Given the description of an element on the screen output the (x, y) to click on. 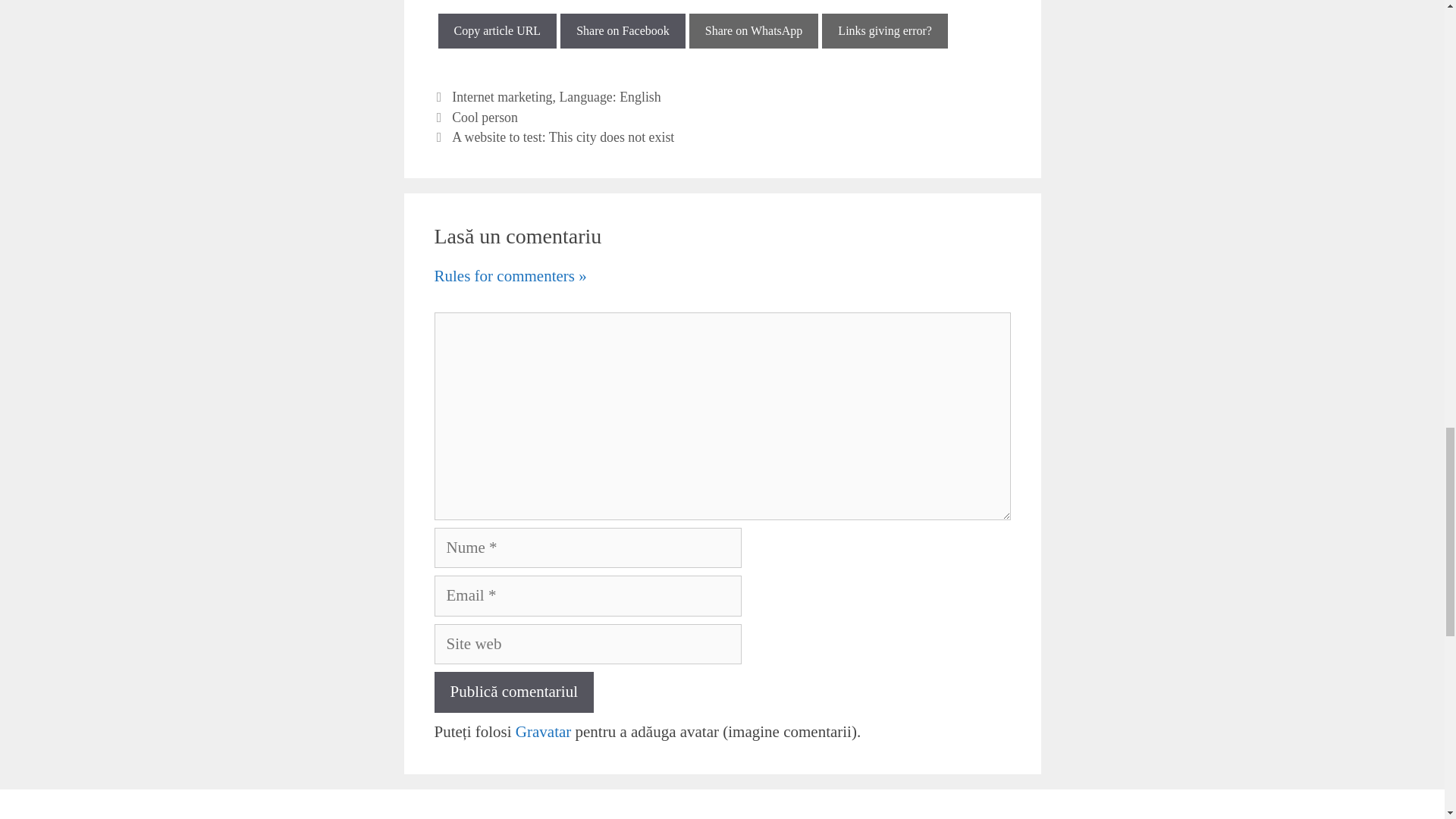
Cool person (484, 117)
Copy article URL (497, 30)
A website to test: This city does not exist (562, 136)
Share on Facebook (622, 30)
Gravatar (542, 731)
Gravatar (542, 731)
Internet marketing (501, 96)
Wayback Machine (884, 30)
Share on WhatsApp (753, 30)
Links giving error? (884, 30)
Language: English (610, 96)
